Given the description of an element on the screen output the (x, y) to click on. 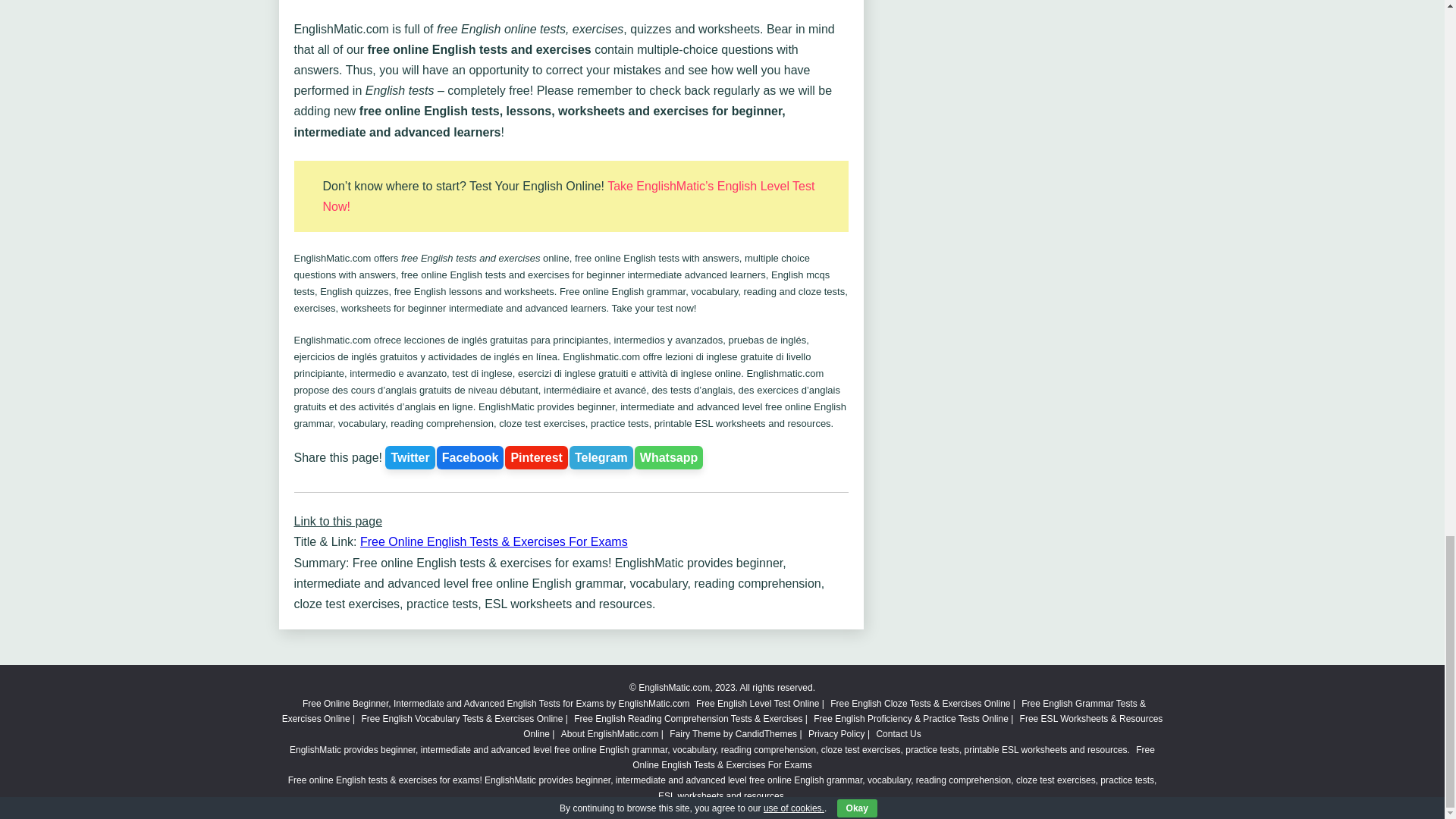
Twitter (409, 457)
Pinterest (536, 457)
Whatsapp (668, 457)
Free English Level Test Online (757, 703)
Facebook (469, 457)
Free English Level Test Online (757, 703)
Telegram (601, 457)
